Given the description of an element on the screen output the (x, y) to click on. 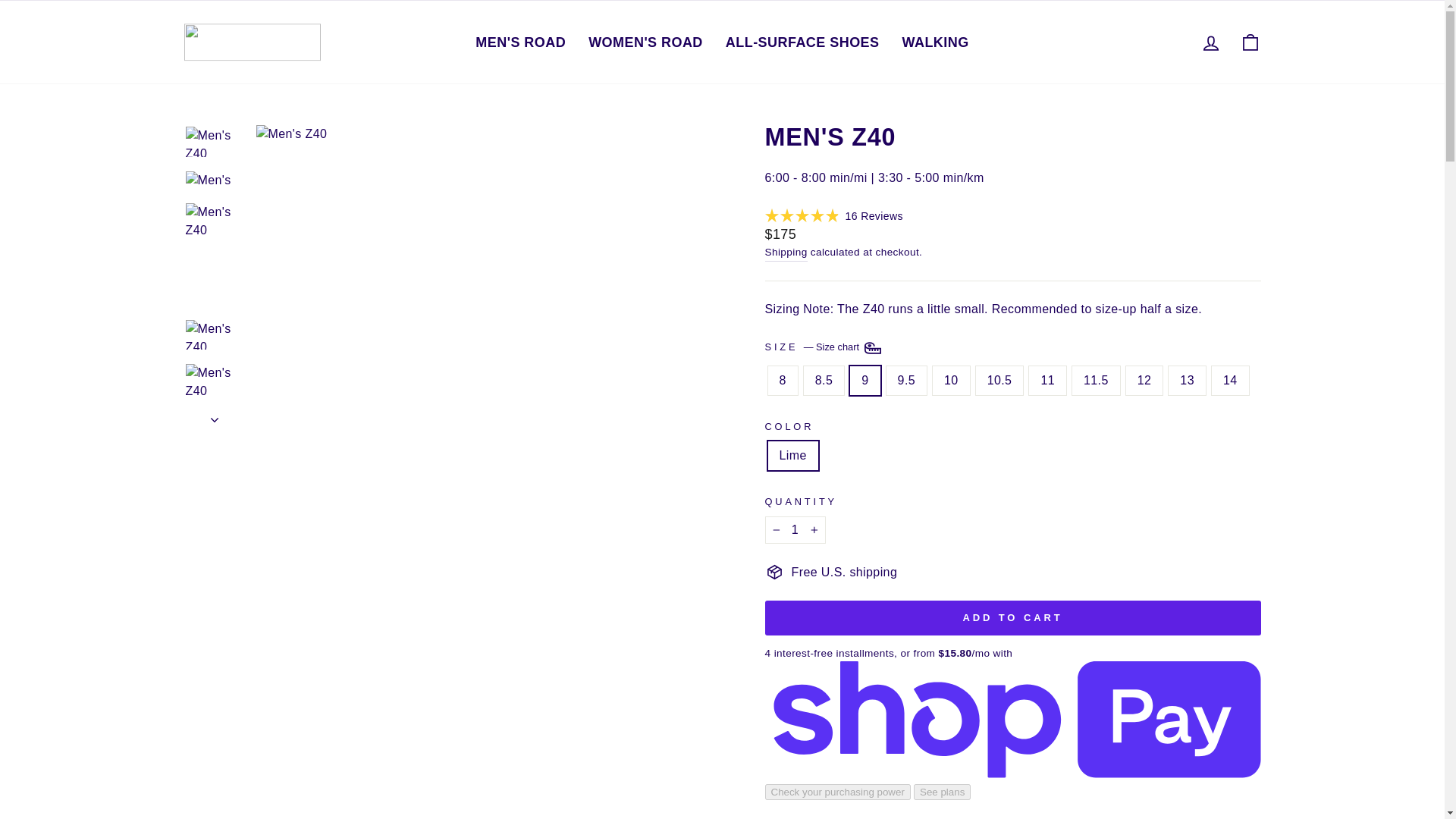
1 (794, 529)
MEN'S ROAD (520, 41)
ICON-BAG-MINIMAL (1249, 42)
9.5 (1210, 41)
